Given the description of an element on the screen output the (x, y) to click on. 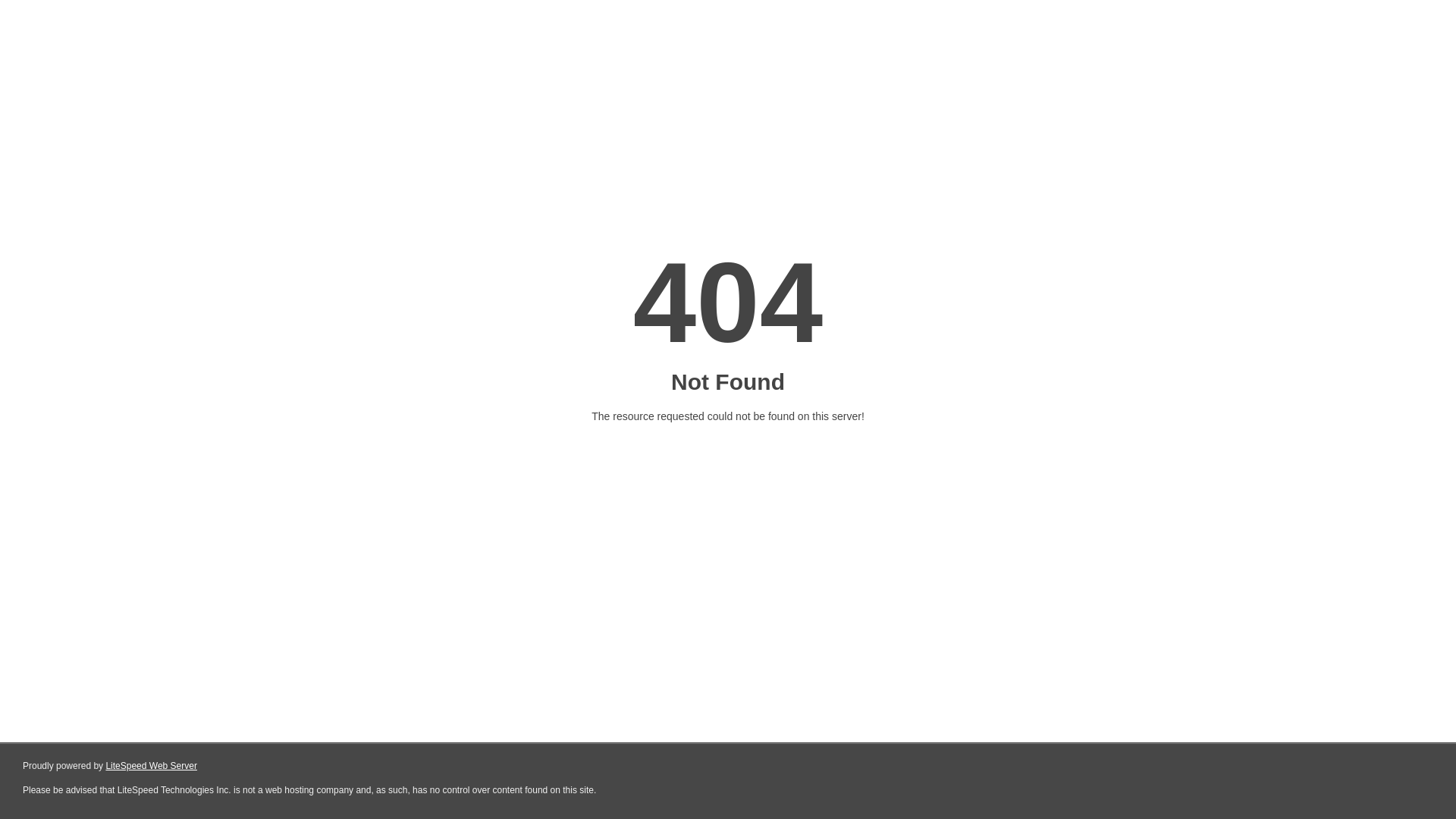
LiteSpeed Web Server Element type: text (151, 765)
